Given the description of an element on the screen output the (x, y) to click on. 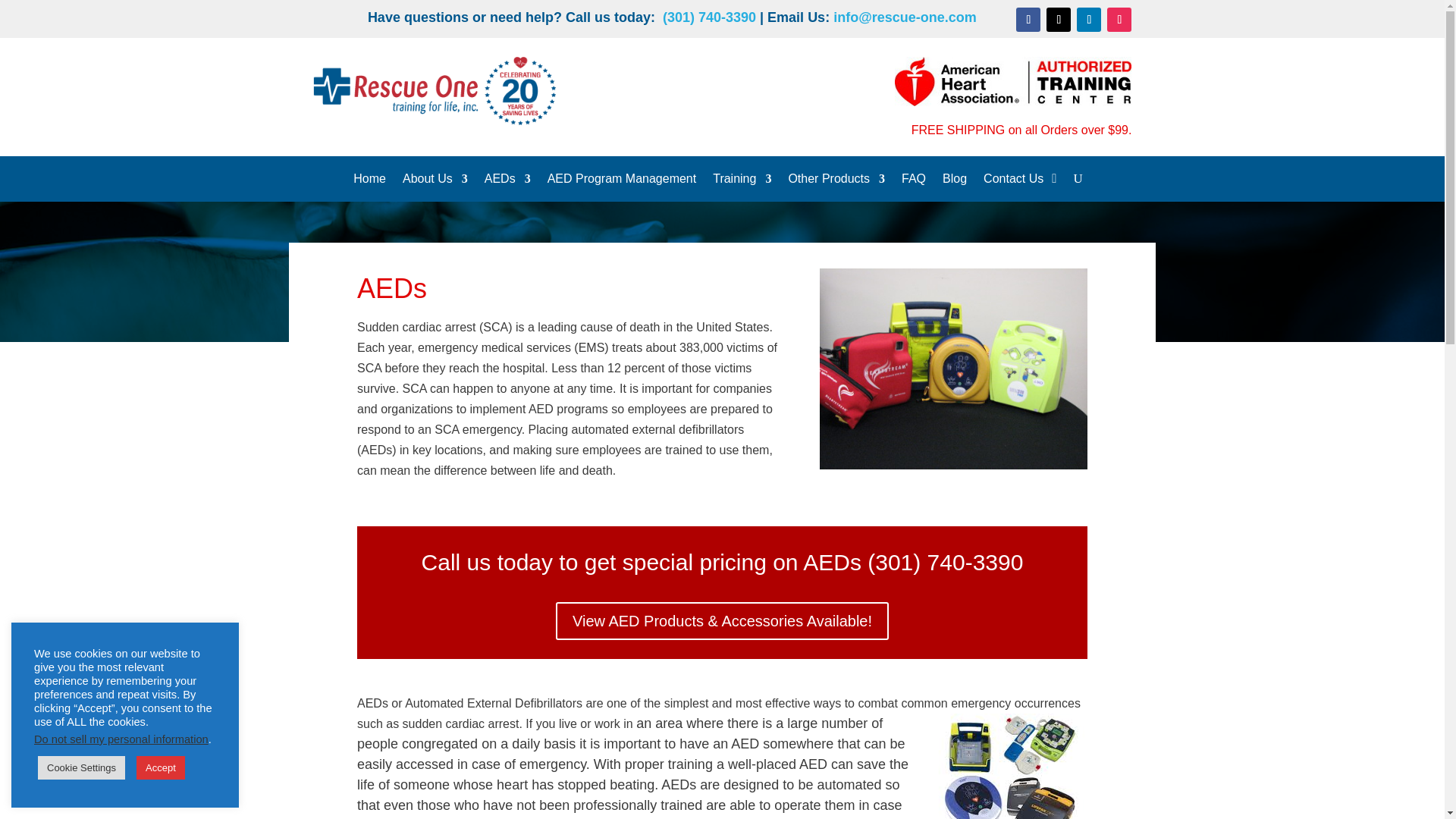
Training (742, 181)
AEDs (507, 181)
AED Program Management (622, 181)
About Us (435, 181)
Follow on LinkedIn (1088, 19)
Follow on Instagram (1118, 19)
American Heart Association Authorized Training Center (1013, 81)
Other Products (836, 181)
Follow on Facebook (1028, 19)
20YRLOGO-SMALL (433, 90)
Home (369, 181)
Follow on X (1058, 19)
First Aid, CPR, AED, BLS, NRP, ACLS, PALS (742, 181)
